Given the description of an element on the screen output the (x, y) to click on. 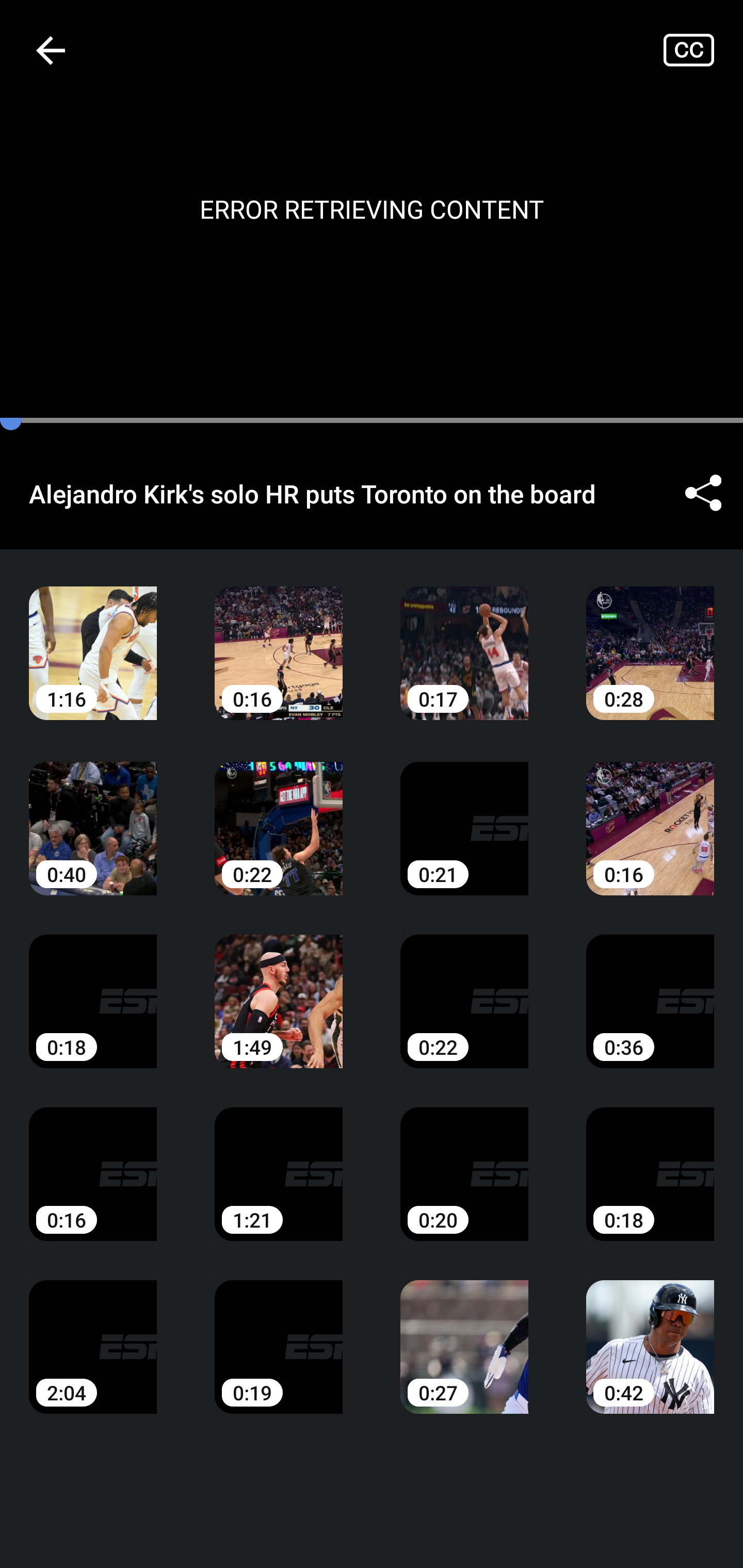
Navigate up (50, 50)
Closed captions  (703, 49)
Share © (703, 493)
1:16 (92, 637)
0:16 (278, 637)
0:17 (464, 637)
0:28 (650, 637)
0:40 (92, 813)
0:22 (278, 813)
0:21 (464, 813)
0:16 (650, 813)
0:18 (92, 987)
1:49 (278, 987)
0:22 (464, 987)
0:36 (650, 987)
0:16 (92, 1160)
1:21 (278, 1160)
0:20 (464, 1160)
0:18 (650, 1160)
2:04 (92, 1332)
0:19 (278, 1332)
0:27 (464, 1332)
0:42 (650, 1332)
